Given the description of an element on the screen output the (x, y) to click on. 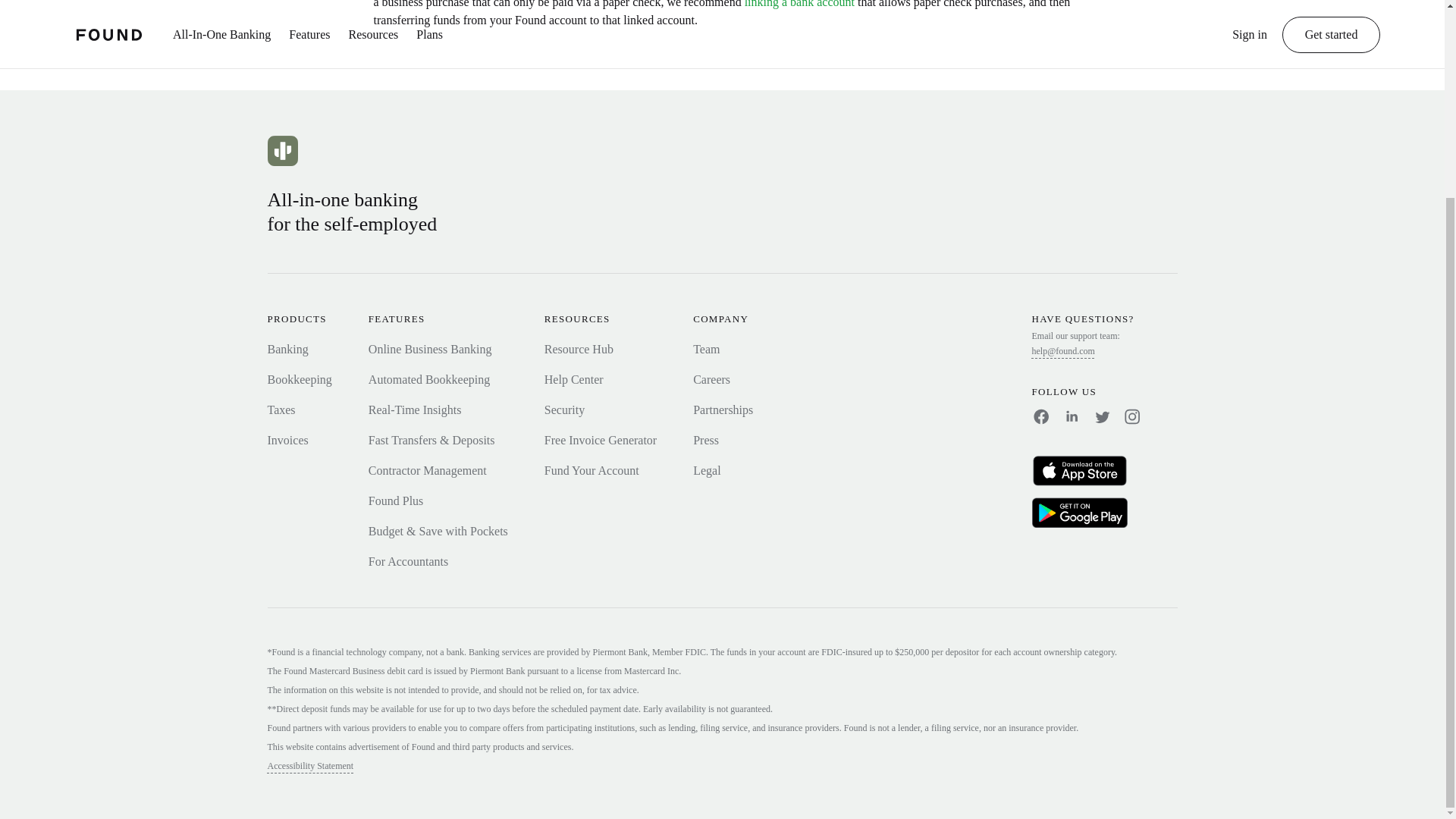
Press (706, 440)
Help Center (574, 379)
Real-Time Insights (414, 409)
Legal (706, 470)
Bookkeeping (298, 379)
Banking (286, 349)
Resource Hub (578, 349)
Automated Bookkeeping (428, 379)
linking a bank account (799, 4)
Contractor Management (427, 470)
